Given the description of an element on the screen output the (x, y) to click on. 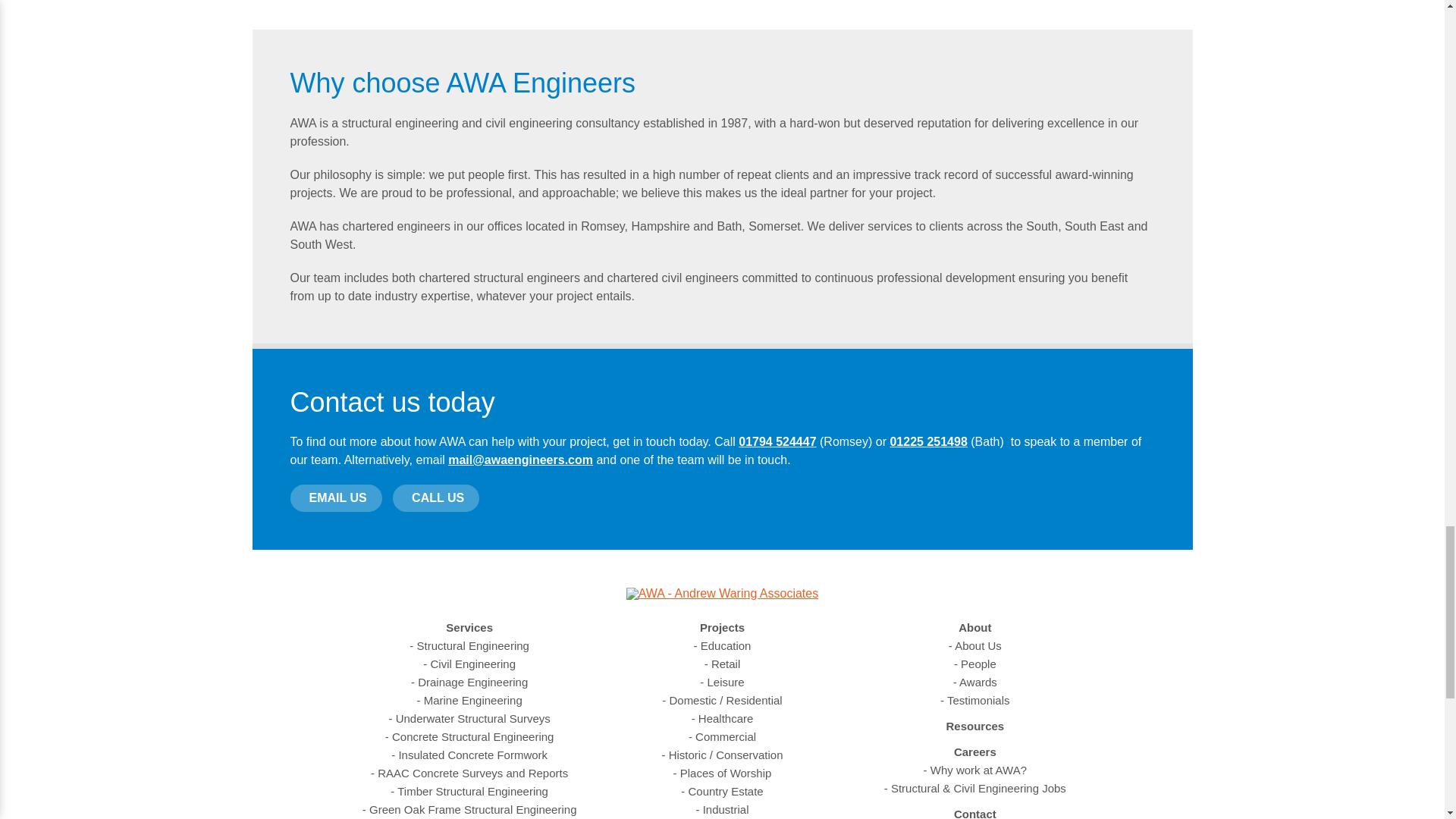
Contact (974, 812)
Testimonials (974, 701)
Current Vacancies (974, 788)
People (974, 664)
Awards (975, 682)
Resources (974, 726)
Projects (722, 628)
About Us (975, 646)
Why work at AWA? (974, 770)
